Given the description of an element on the screen output the (x, y) to click on. 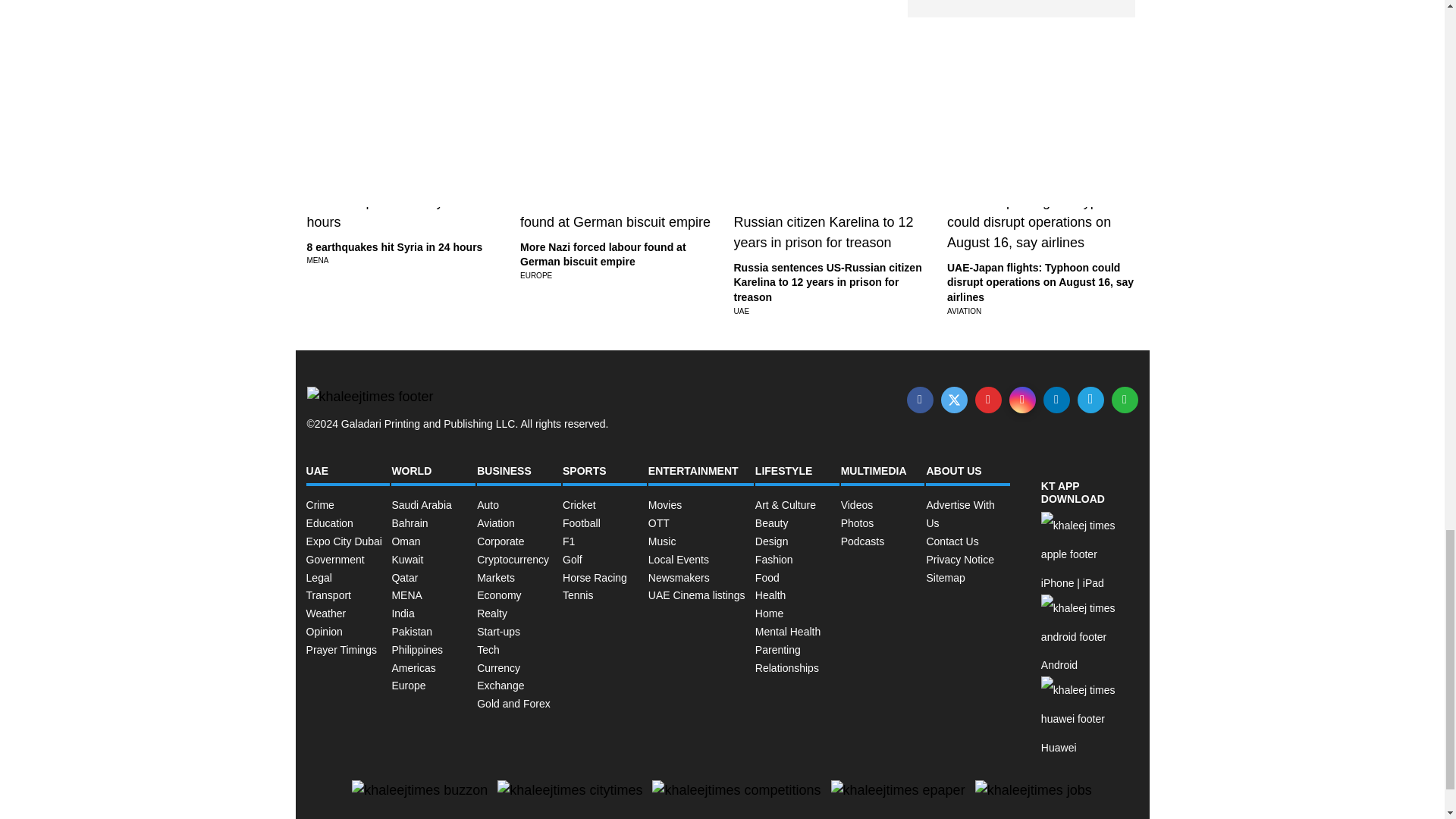
8 earthquakes hit Syria in 24 hours  (393, 246)
More Nazi forced labour found at German biscuit empire (602, 254)
Algeria arrests 21 for alleged arms trafficking (1034, 129)
Techysquad partners with Spotware in exclusive collaboration (824, 149)
E-commerce giant Alibaba misses Q1 revenue estimates (614, 129)
